Given the description of an element on the screen output the (x, y) to click on. 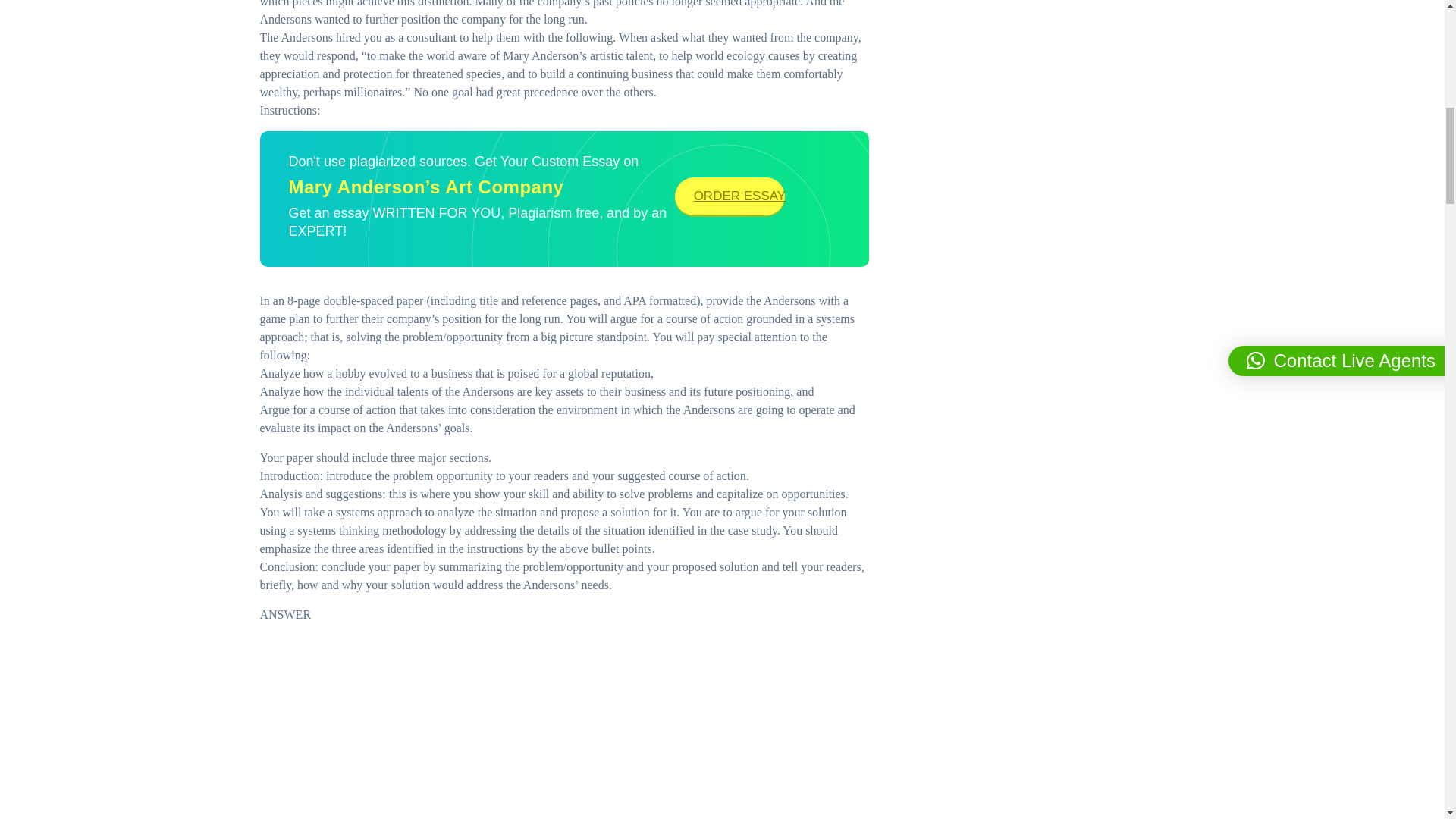
ORDER ESSAY (729, 196)
